Given the description of an element on the screen output the (x, y) to click on. 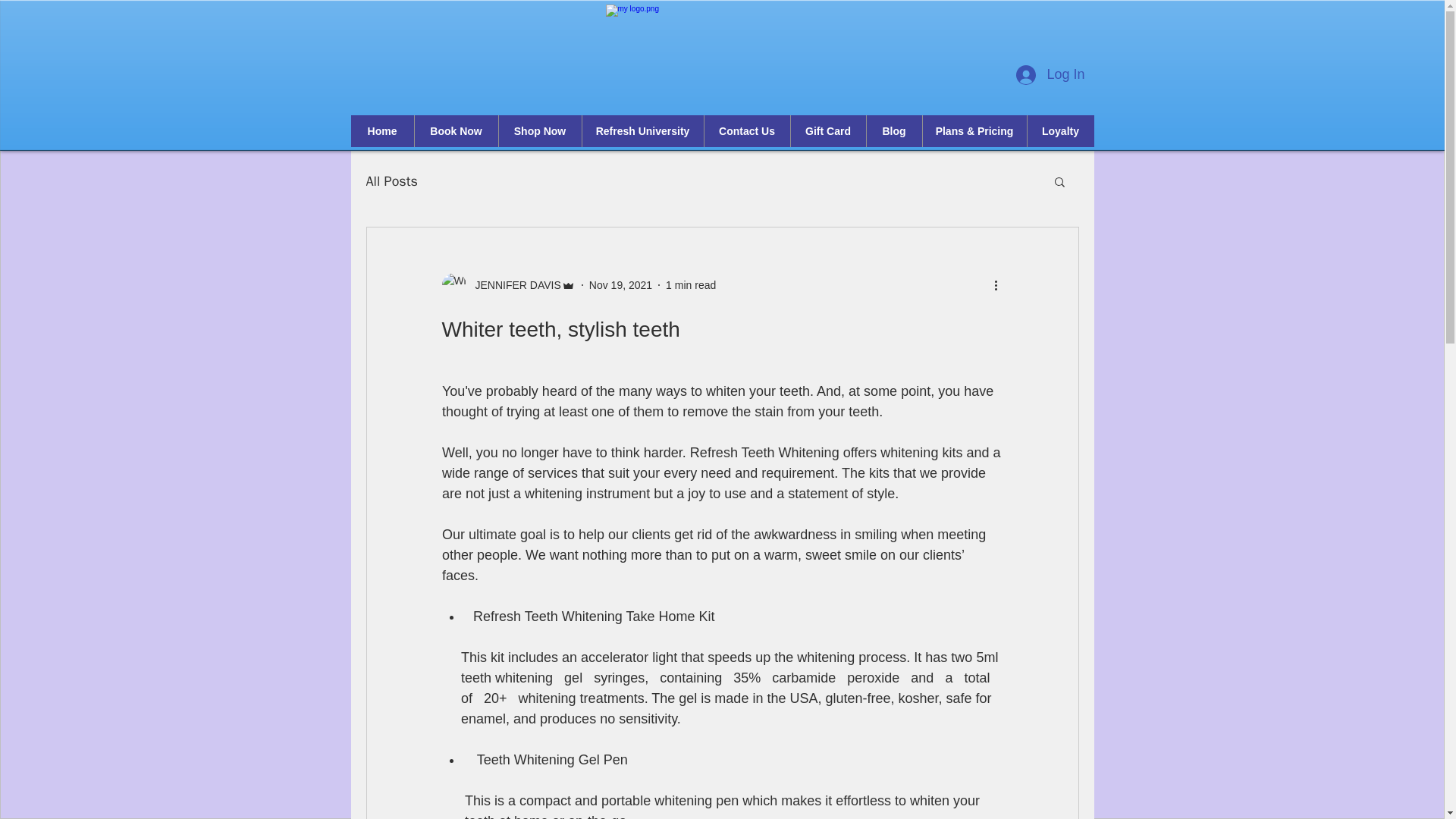
Home (381, 131)
Loyalty (1060, 131)
JENNIFER DAVIS (508, 284)
Refresh University (641, 131)
JENNIFER DAVIS (512, 285)
Log In (1050, 74)
Gift Card (828, 131)
Blog (893, 131)
Shop Now (538, 131)
1 min read (690, 285)
All Posts (390, 180)
Nov 19, 2021 (620, 285)
Contact Us (746, 131)
Book Now (455, 131)
